Given the description of an element on the screen output the (x, y) to click on. 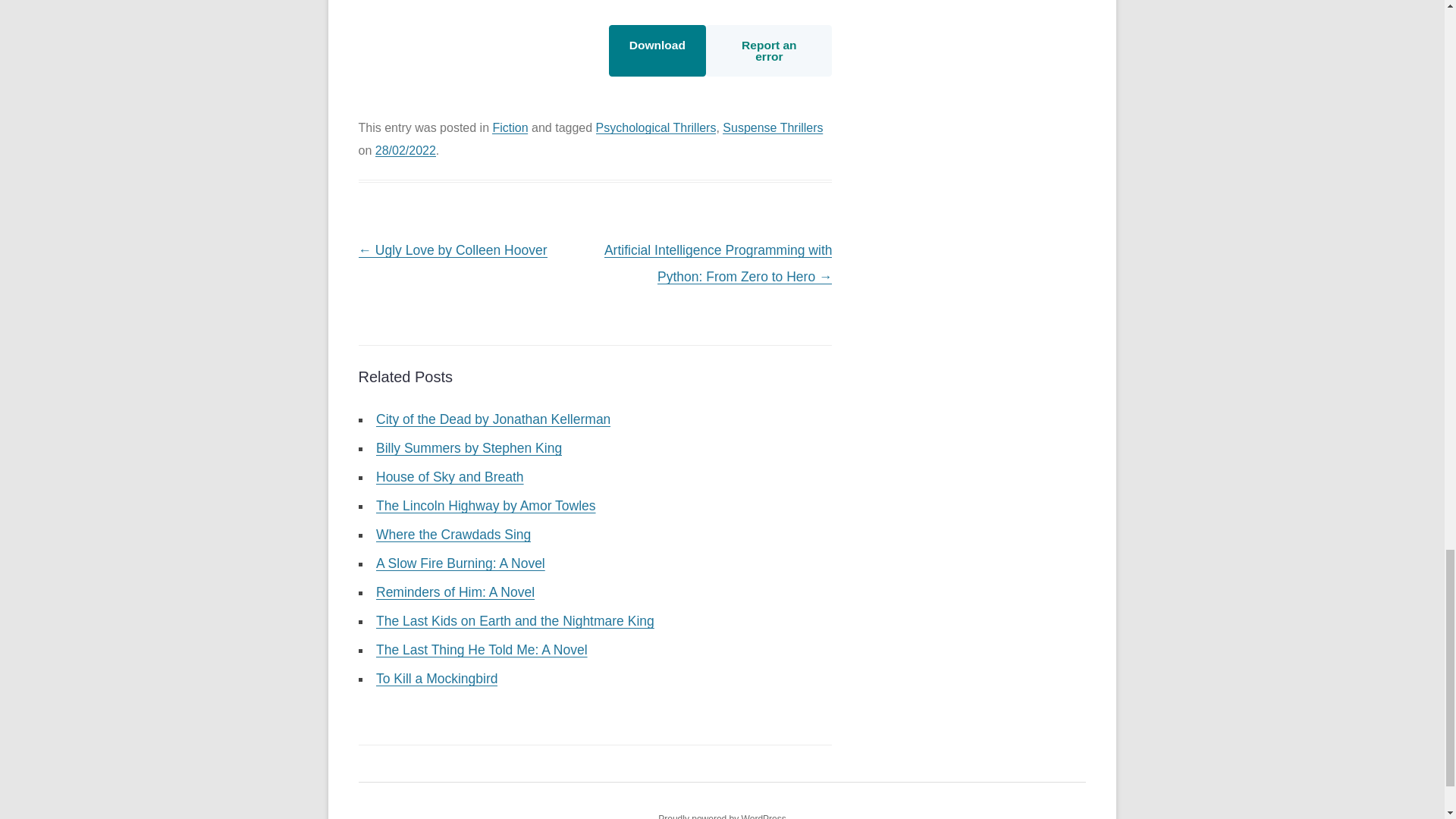
City of the Dead by Jonathan Kellerman (492, 418)
Fiction (509, 127)
The Lincoln Highway by Amor Towles (485, 505)
To Kill a Mockingbird (436, 678)
Suspense Thrillers (772, 127)
Download (657, 50)
A Slow Fire Burning: A Novel (459, 563)
3rd party ad content (471, 46)
23:22 (405, 150)
Reminders of Him: A Novel (454, 591)
